Given the description of an element on the screen output the (x, y) to click on. 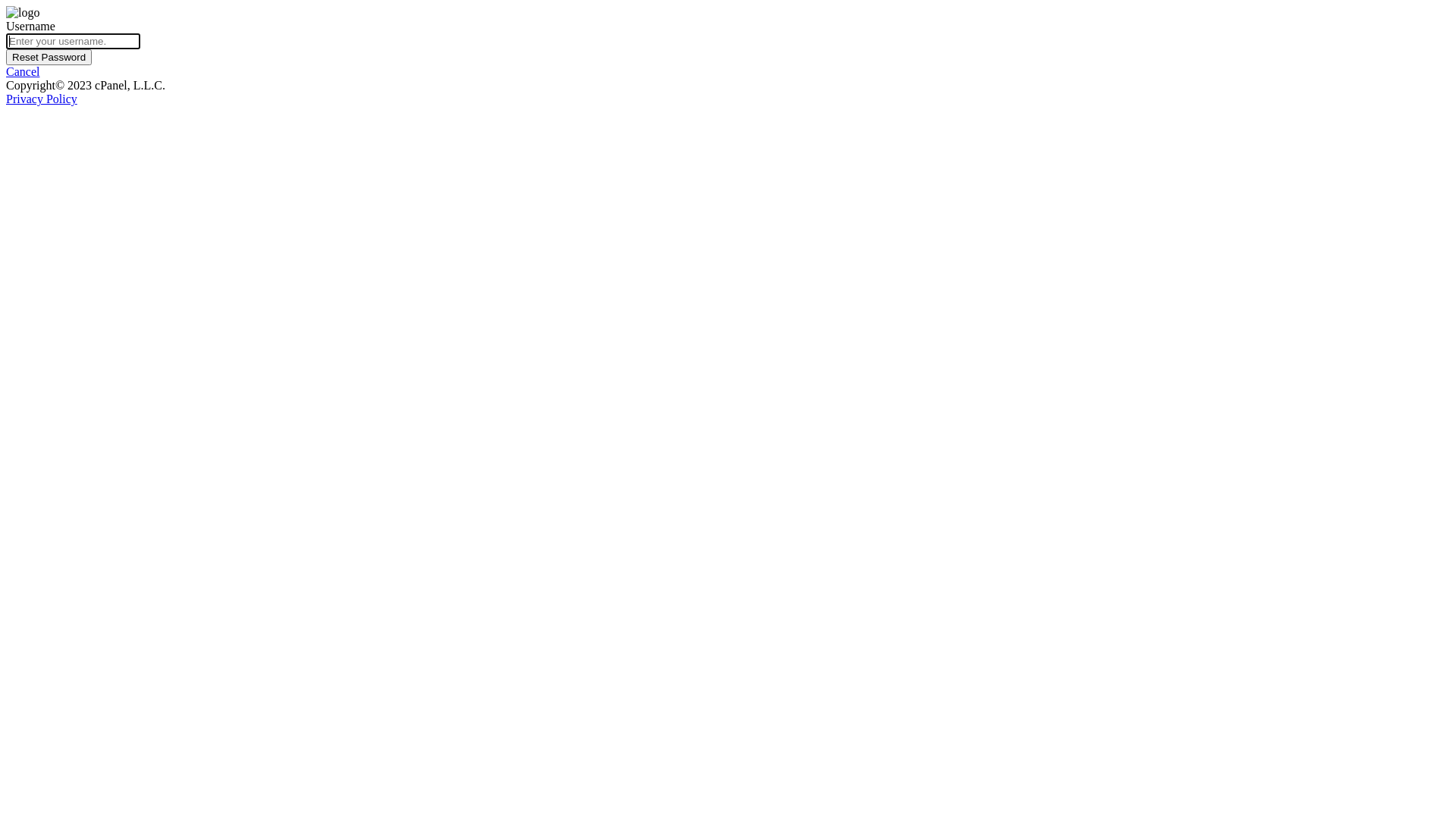
Reset Password Element type: text (48, 57)
Privacy Policy Element type: text (41, 98)
Cancel Element type: text (22, 71)
